Given the description of an element on the screen output the (x, y) to click on. 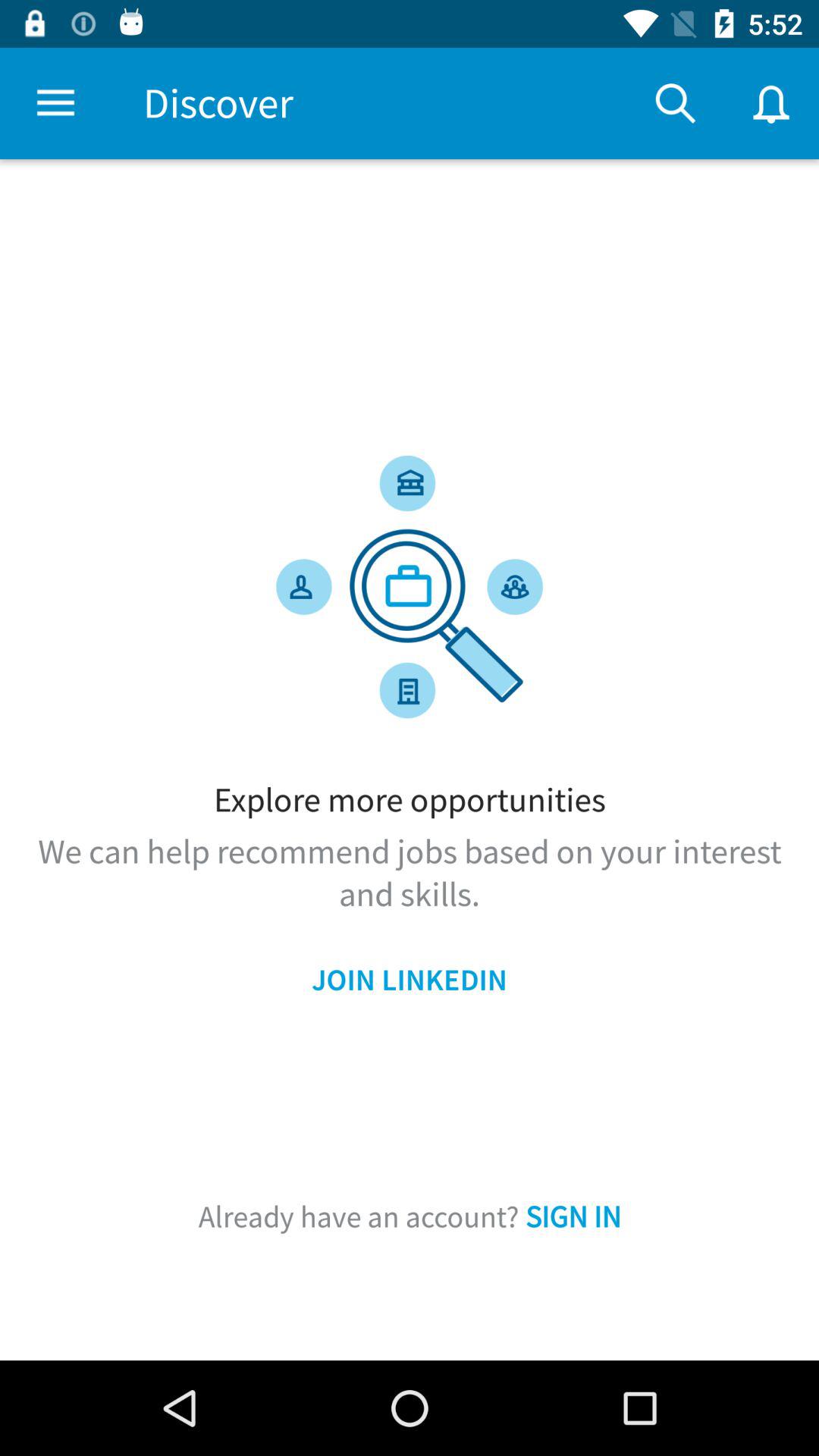
click icon above explore more opportunities icon (55, 103)
